Given the description of an element on the screen output the (x, y) to click on. 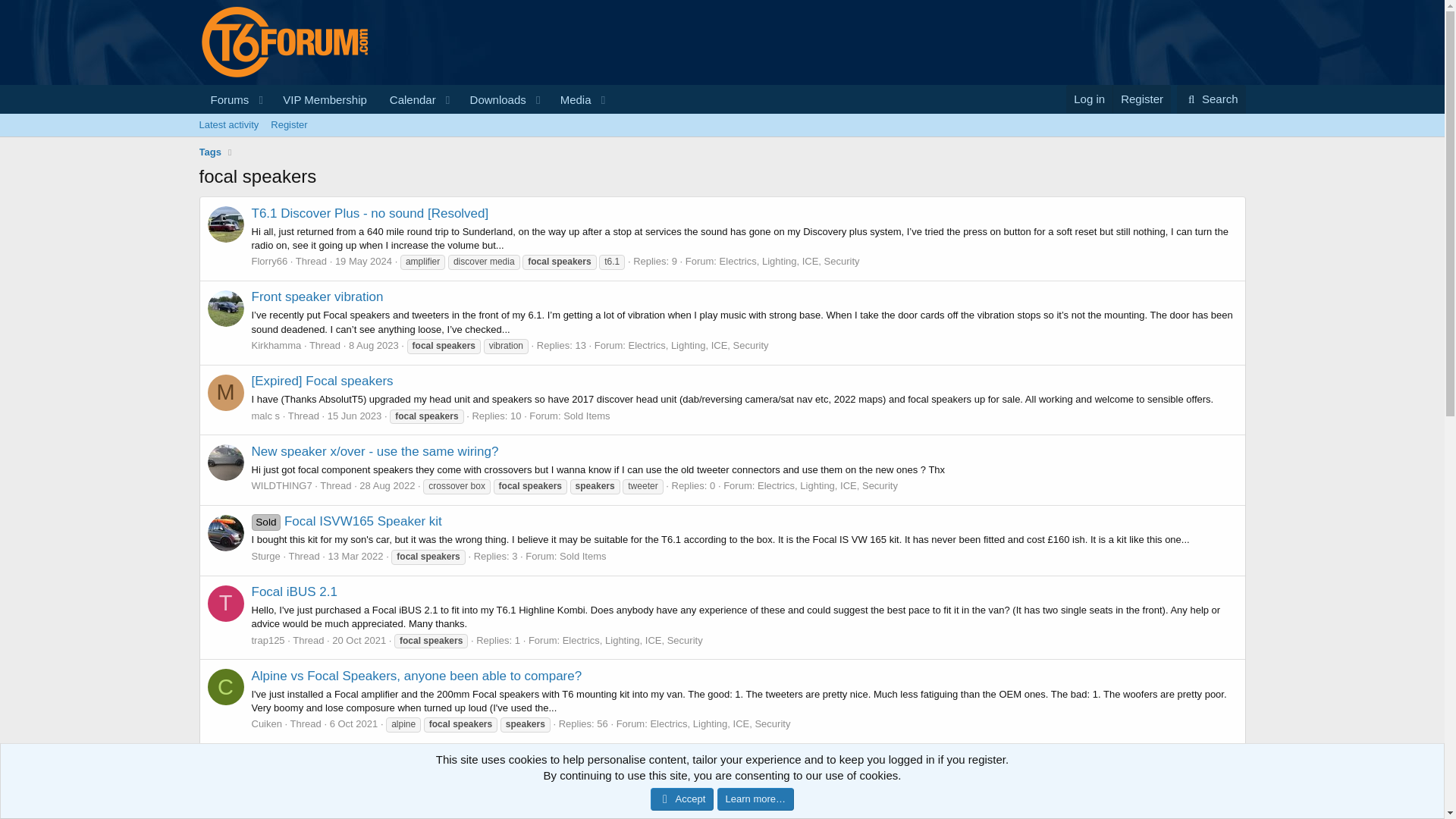
Search (1211, 99)
Downloads (492, 99)
Media (405, 99)
Forums (570, 99)
Florry66 (224, 99)
Calendar (269, 260)
Latest activity (408, 99)
VIP Membership (228, 124)
8 Aug 2023 at 21:08 (324, 99)
19 May 2024 at 17:37 (405, 116)
13 Mar 2022 at 12:10 (373, 345)
Log in (362, 260)
Search (354, 555)
